Given the description of an element on the screen output the (x, y) to click on. 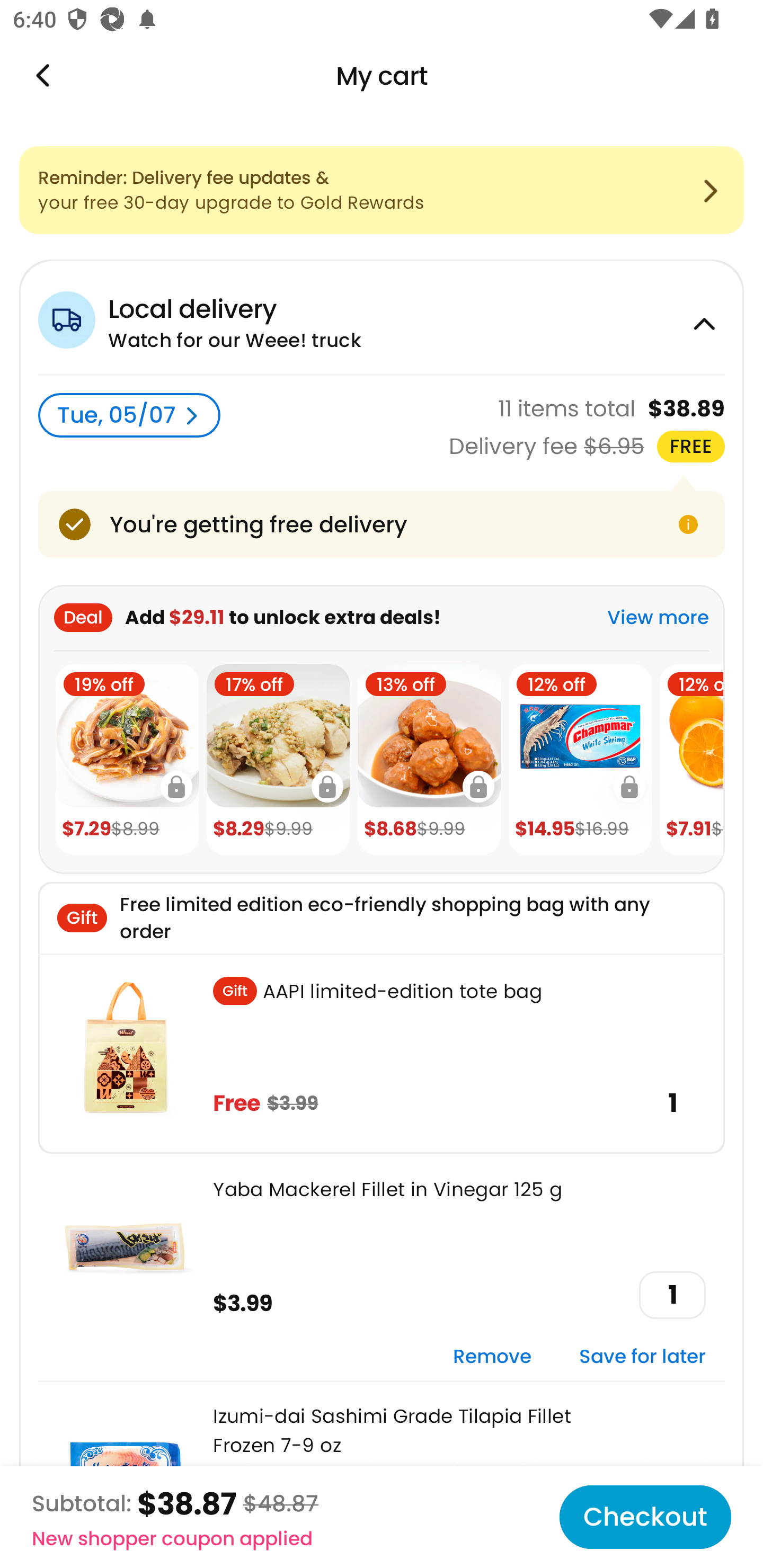
Local delivery Watch for our Weee! truck (381, 317)
Tue, 05/07 (129, 415)
You're getting free delivery (381, 524)
19% off $7.29 $8.99 (126, 759)
17% off $8.29 $9.99 (277, 759)
13% off $8.68 $9.99 (428, 759)
12% off $14.95 $16.99 (579, 759)
. AAPI limited-edition tote bag Free $3.99 1 (381, 1053)
1 (672, 1294)
Remove (491, 1356)
Save for later (642, 1356)
Checkout (644, 1516)
